Given the description of an element on the screen output the (x, y) to click on. 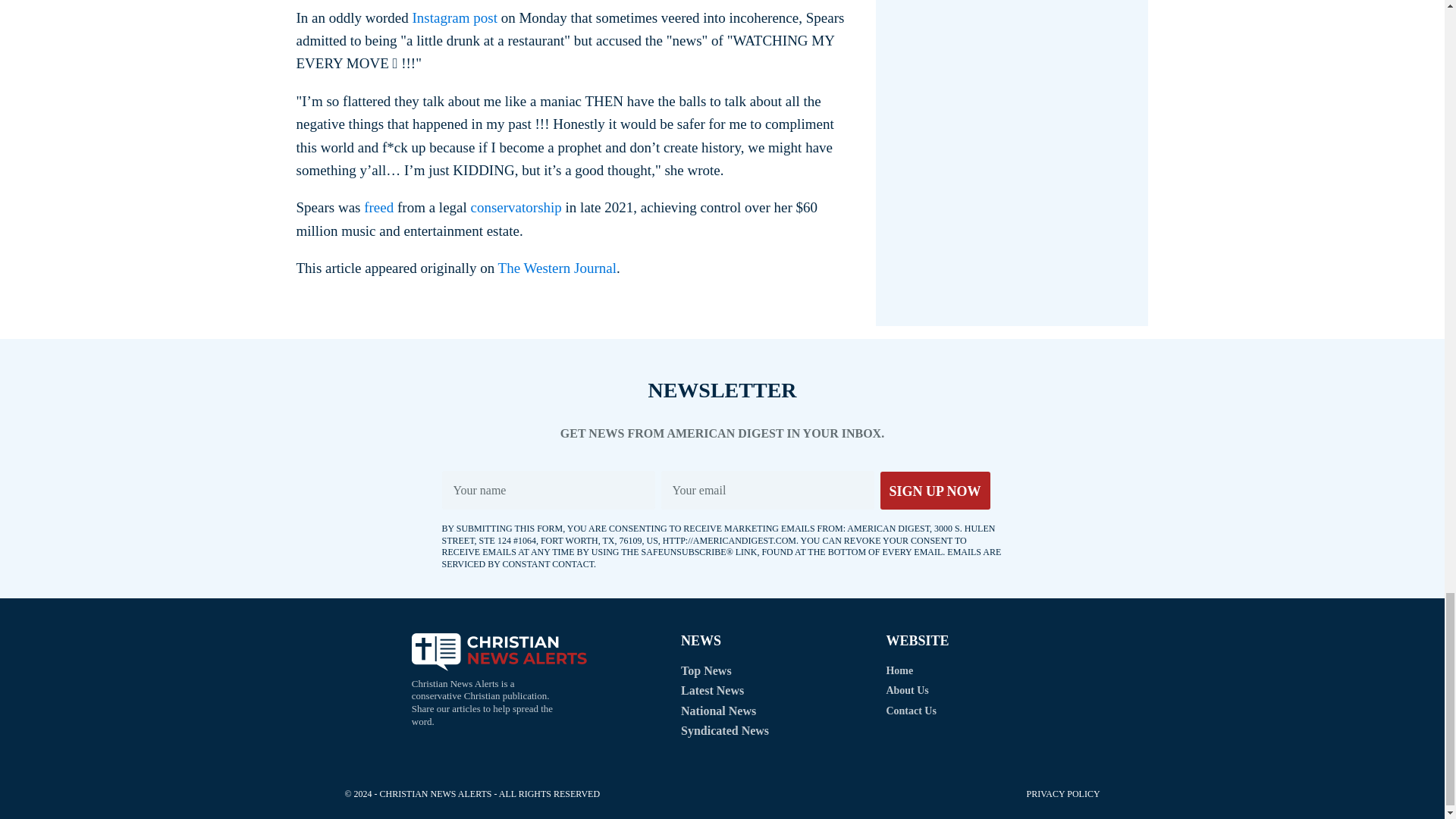
Instagram post (454, 17)
The Western Journal (556, 268)
freed (378, 207)
SIGN UP NOW (934, 490)
conservatorship (516, 207)
